Given the description of an element on the screen output the (x, y) to click on. 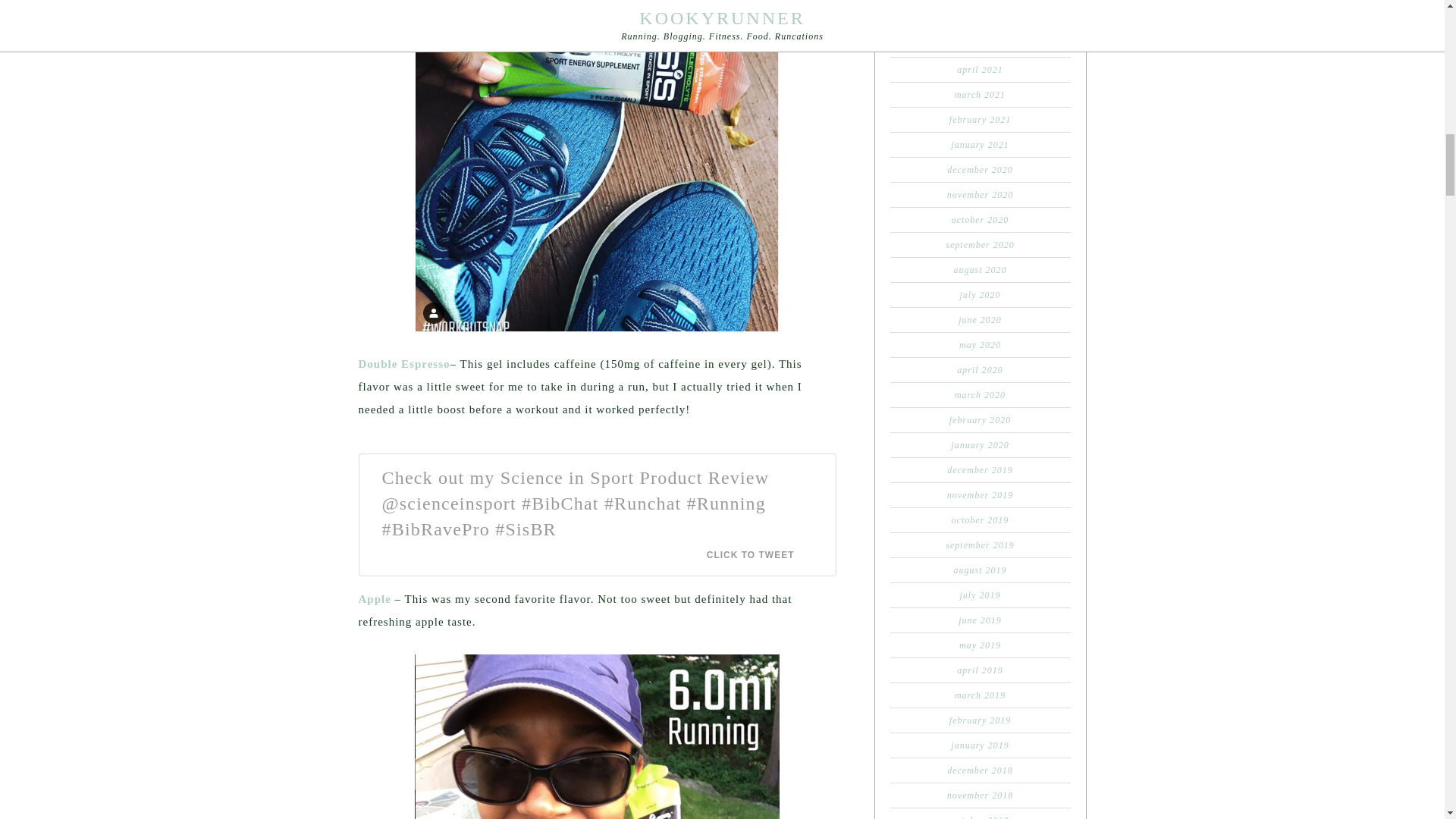
Apple (374, 598)
Double Espresso (403, 363)
CLICK TO TWEET (759, 554)
